Given the description of an element on the screen output the (x, y) to click on. 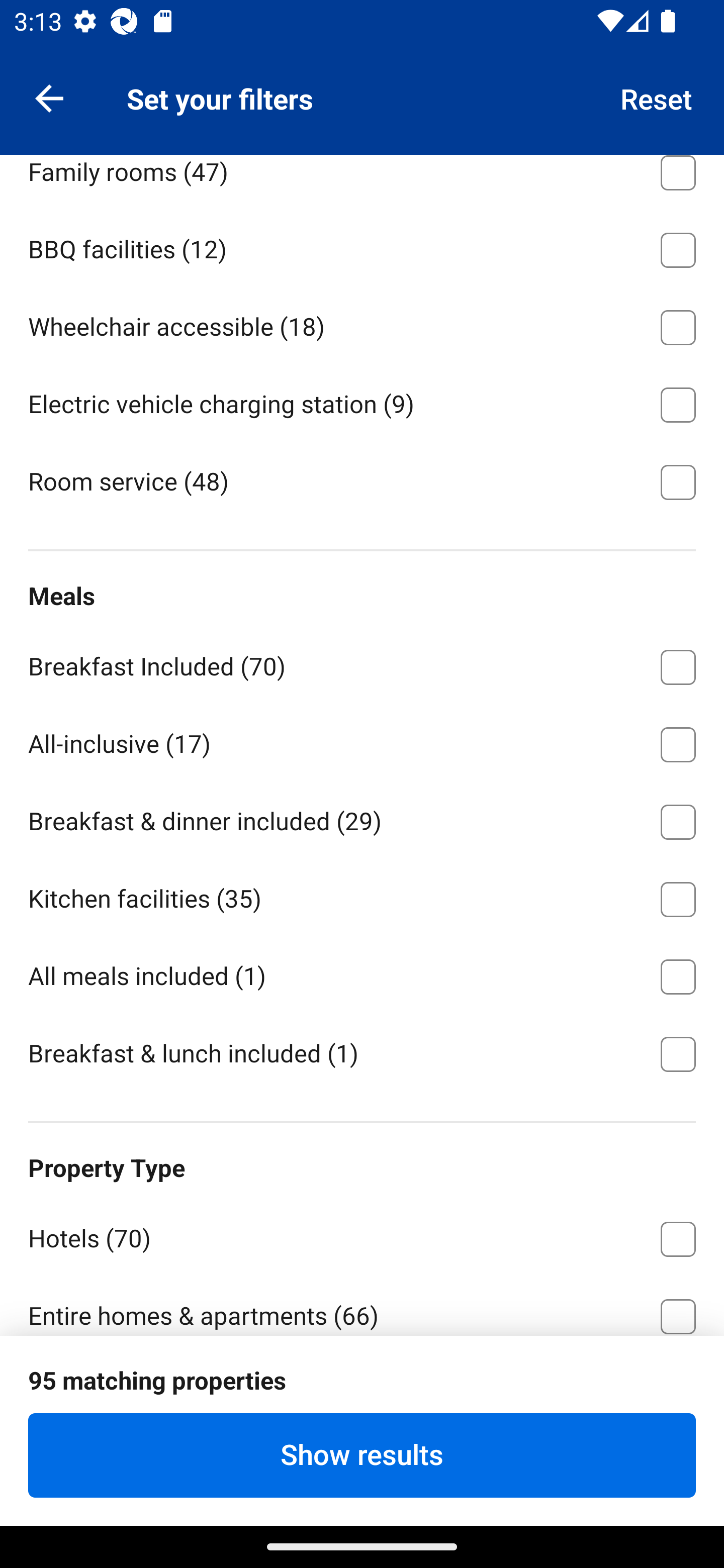
Navigate up (49, 97)
Restaurant ⁦(69) (361, 91)
Reset (656, 97)
Family rooms ⁦(47) (361, 181)
BBQ facilities ⁦(12) (361, 246)
Wheelchair accessible ⁦(18) (361, 323)
Electric vehicle charging station ⁦(9) (361, 401)
Room service ⁦(48) (361, 480)
Breakfast Included ⁦(70) (361, 663)
All-inclusive ⁦(17) (361, 740)
Breakfast & dinner included ⁦(29) (361, 818)
Kitchen facilities ⁦(35) (361, 895)
All meals included ⁦(1) (361, 973)
Breakfast & lunch included ⁦(1) (361, 1052)
Hotels ⁦(70) (361, 1235)
Entire homes & apartments ⁦(66) (361, 1304)
Apartments ⁦(19) (361, 1390)
Show results (361, 1454)
